Given the description of an element on the screen output the (x, y) to click on. 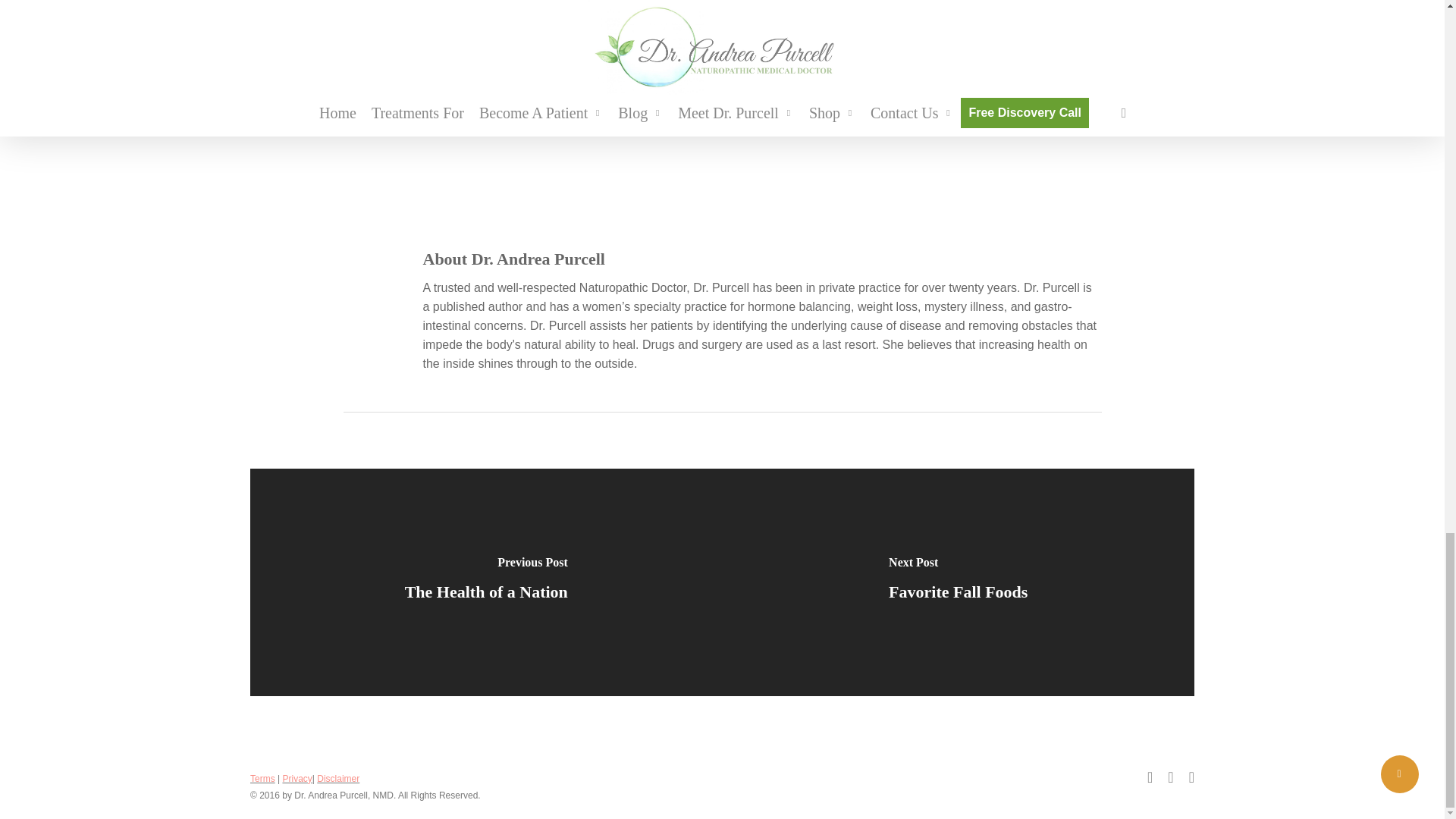
Terms (262, 778)
Disclaimer (338, 778)
Privacy (296, 778)
